Given the description of an element on the screen output the (x, y) to click on. 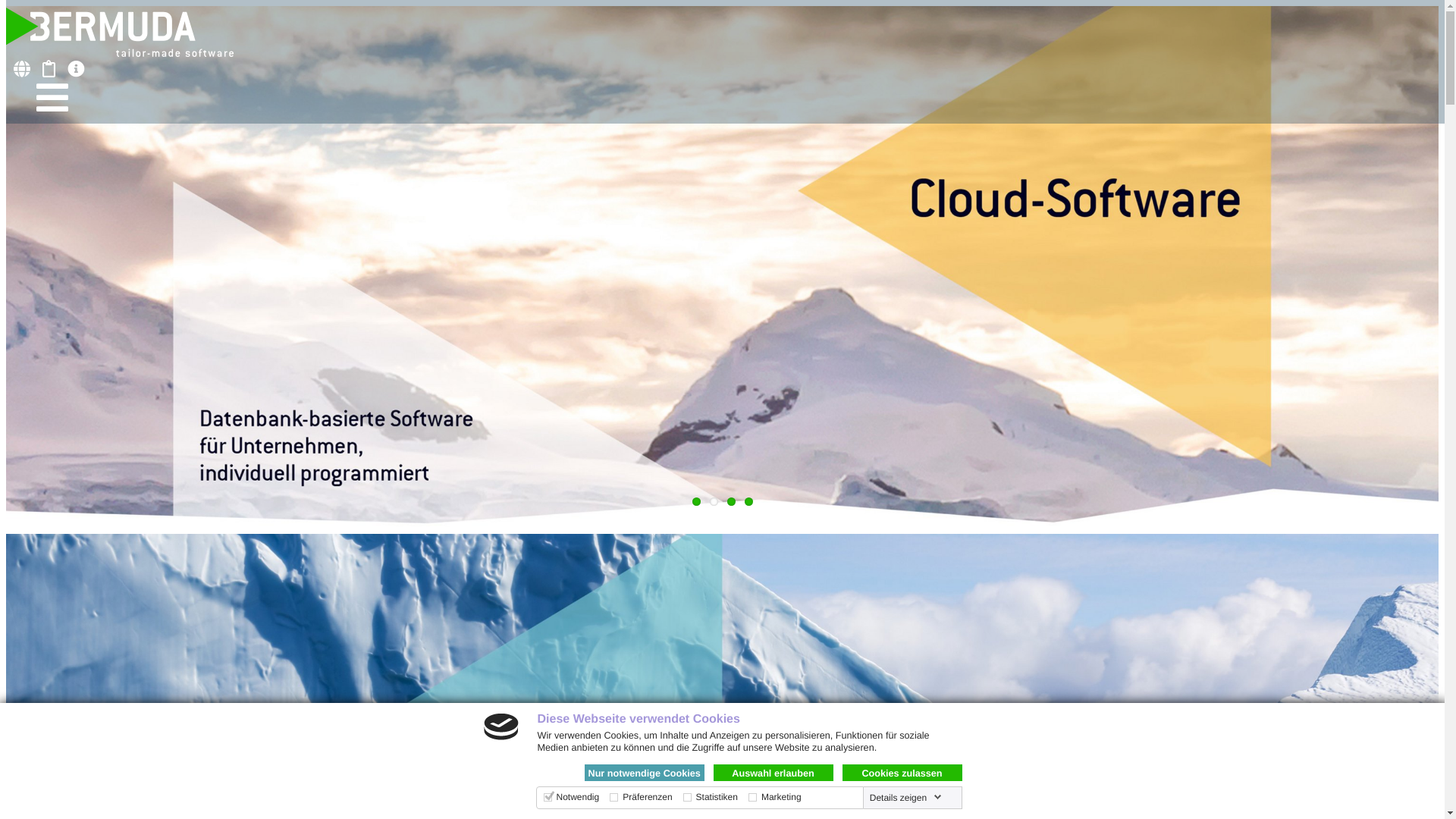
3 Element type: text (730, 501)
Details zeigen Element type: text (905, 797)
Cookies zulassen Element type: text (901, 772)
4 Element type: text (748, 501)
Nur notwendige Cookies Element type: text (643, 772)
1 Element type: text (695, 501)
Auswahl erlauben Element type: text (772, 772)
2 Element type: text (713, 501)
